Given the description of an element on the screen output the (x, y) to click on. 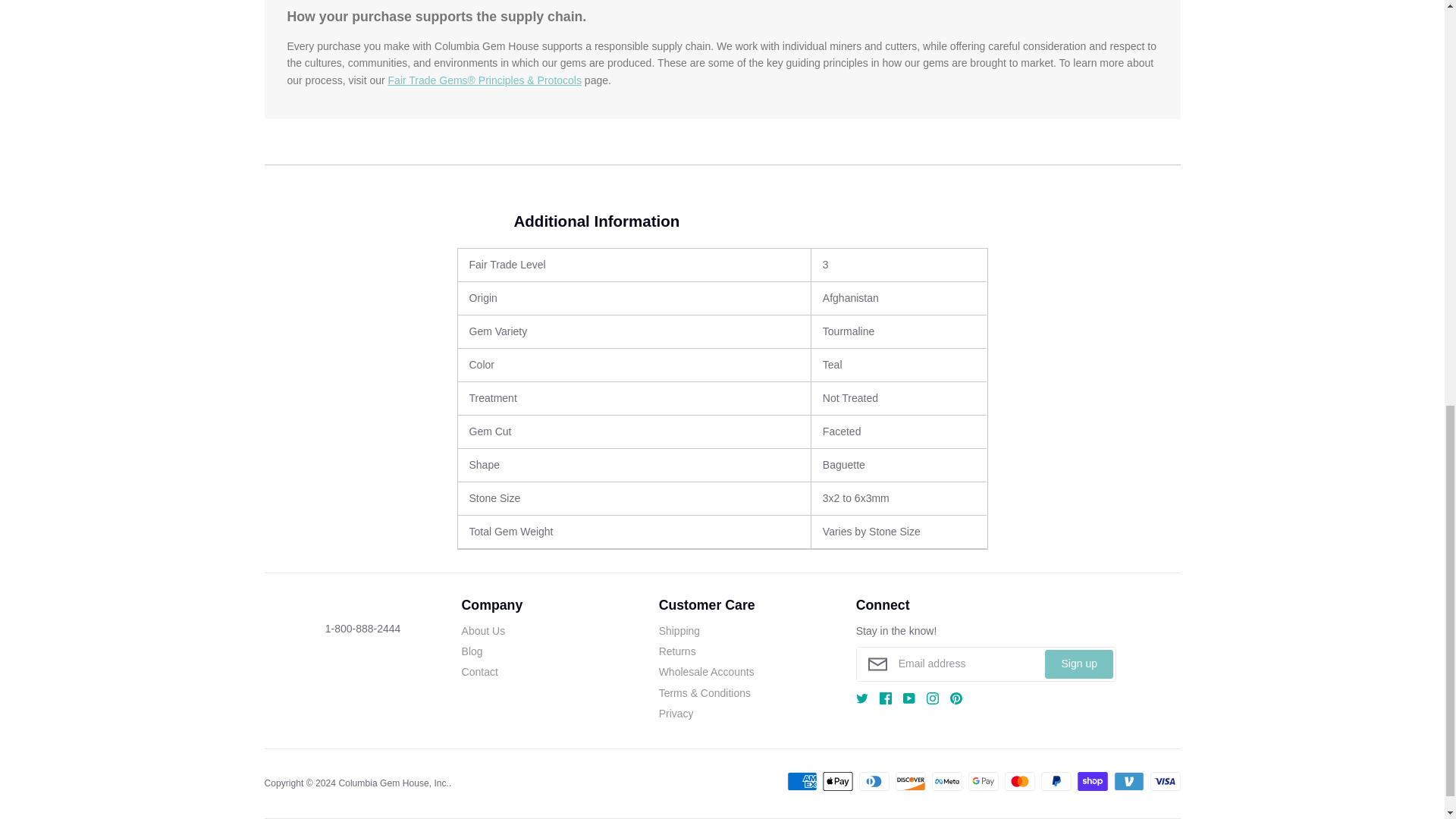
Discover (910, 781)
Diners Club (874, 781)
Apple Pay (837, 781)
Meta Pay (946, 781)
American Express (801, 781)
Google Pay (983, 781)
